Given the description of an element on the screen output the (x, y) to click on. 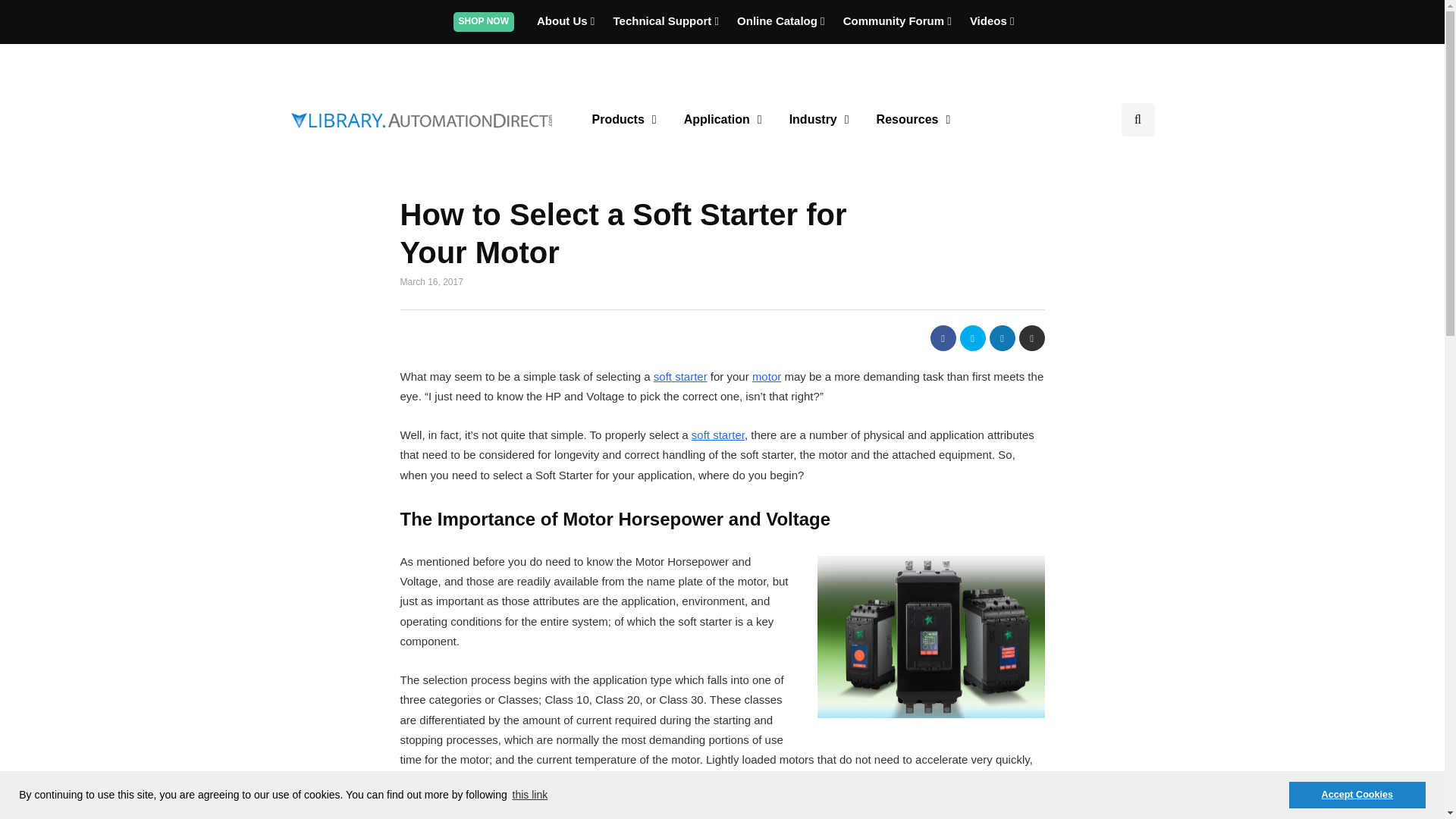
Community Forum (899, 20)
Share with LinkedIn (1001, 338)
About Us (566, 20)
Products (623, 119)
Share with Facebook (942, 338)
Videos (991, 20)
Share by Email (1032, 338)
Accept Cookies (1356, 795)
Technical Support (667, 20)
Online Catalog (782, 20)
Tweet this (972, 338)
SHOP NOW (483, 20)
this link (530, 794)
Industry (819, 119)
Application (722, 119)
